Given the description of an element on the screen output the (x, y) to click on. 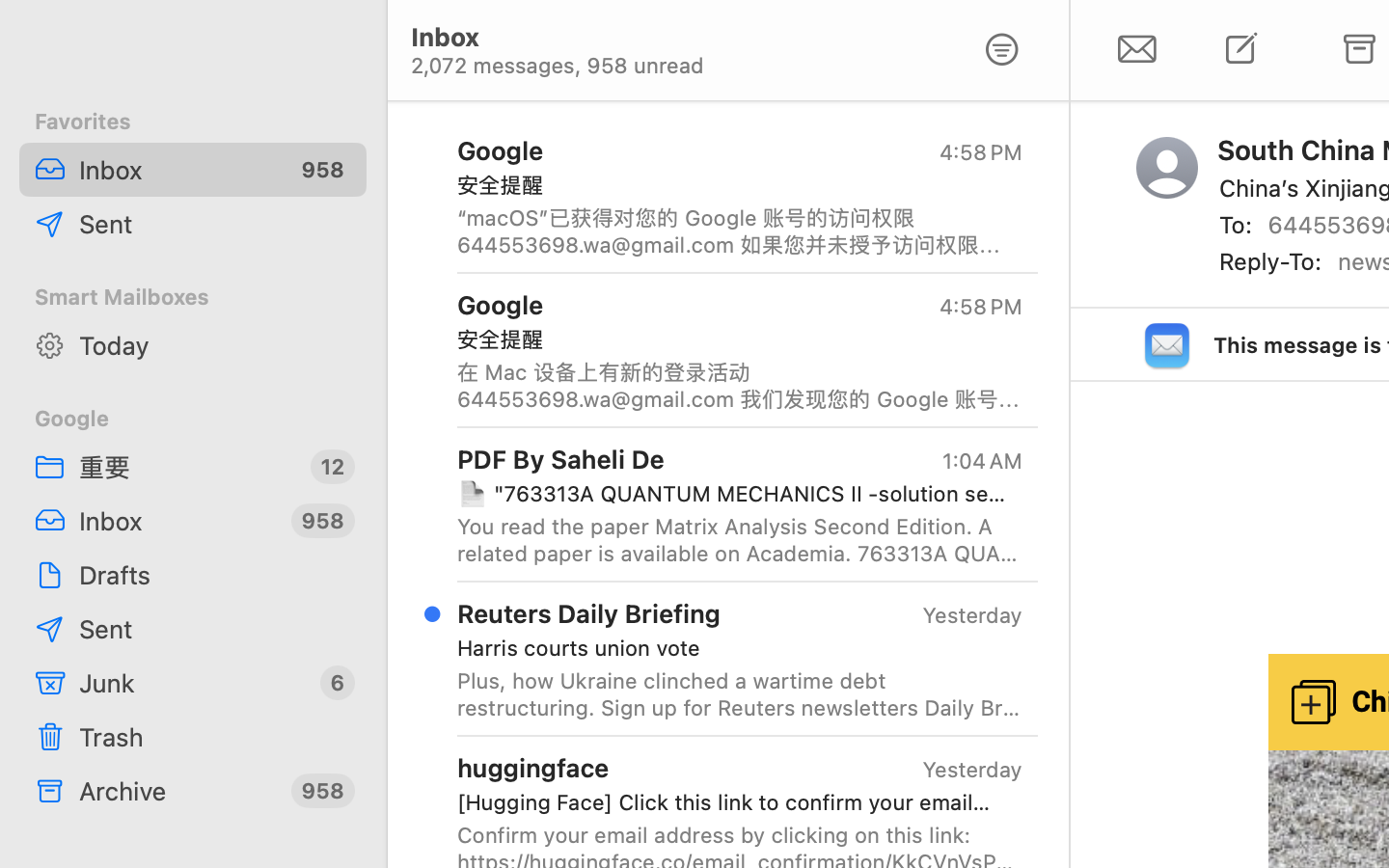
Today Element type: AXTextField (214, 344)
Smart Mailboxes Element type: AXStaticText (192, 296)
